Given the description of an element on the screen output the (x, y) to click on. 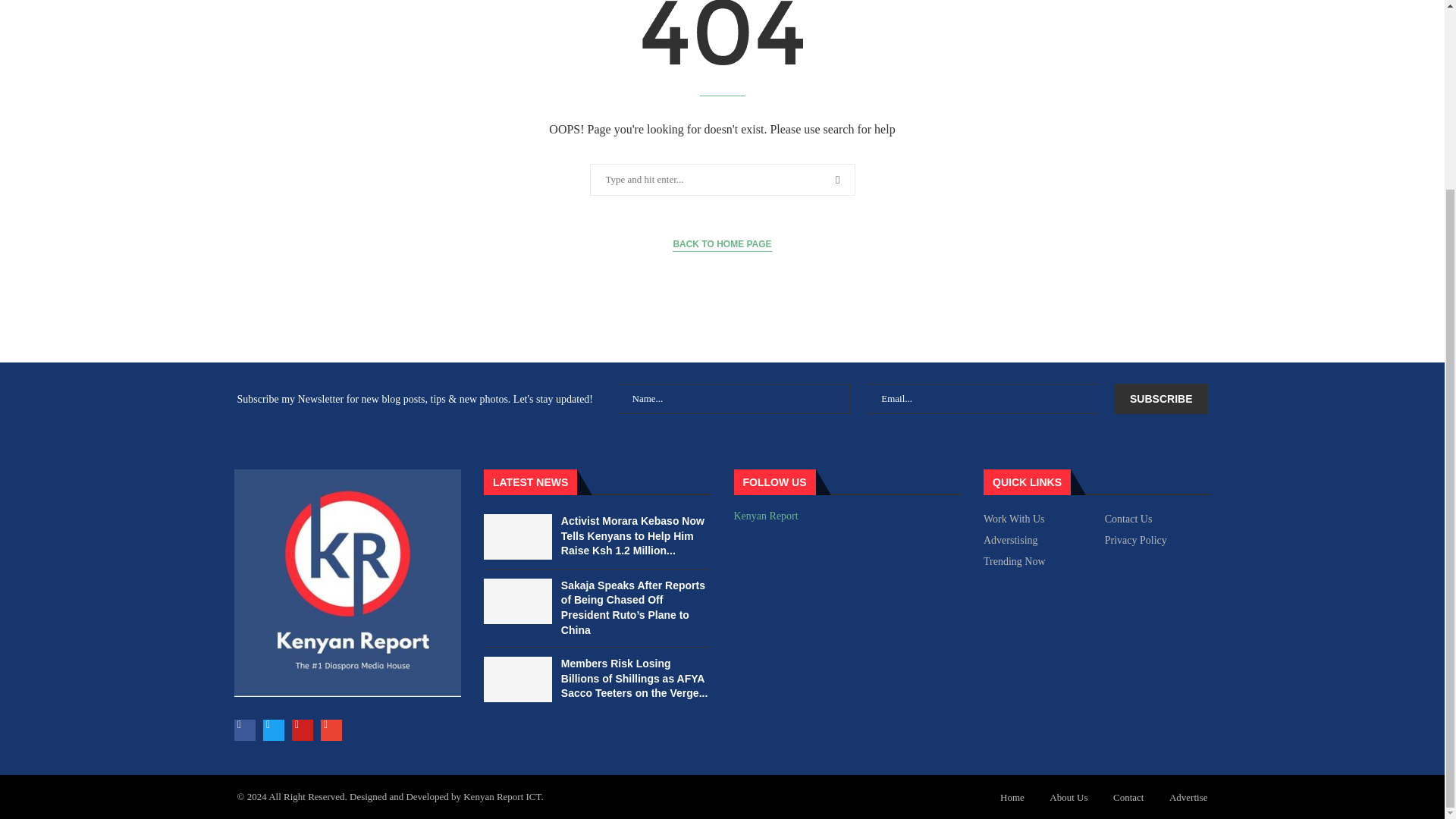
Subscribe (1161, 399)
